Given the description of an element on the screen output the (x, y) to click on. 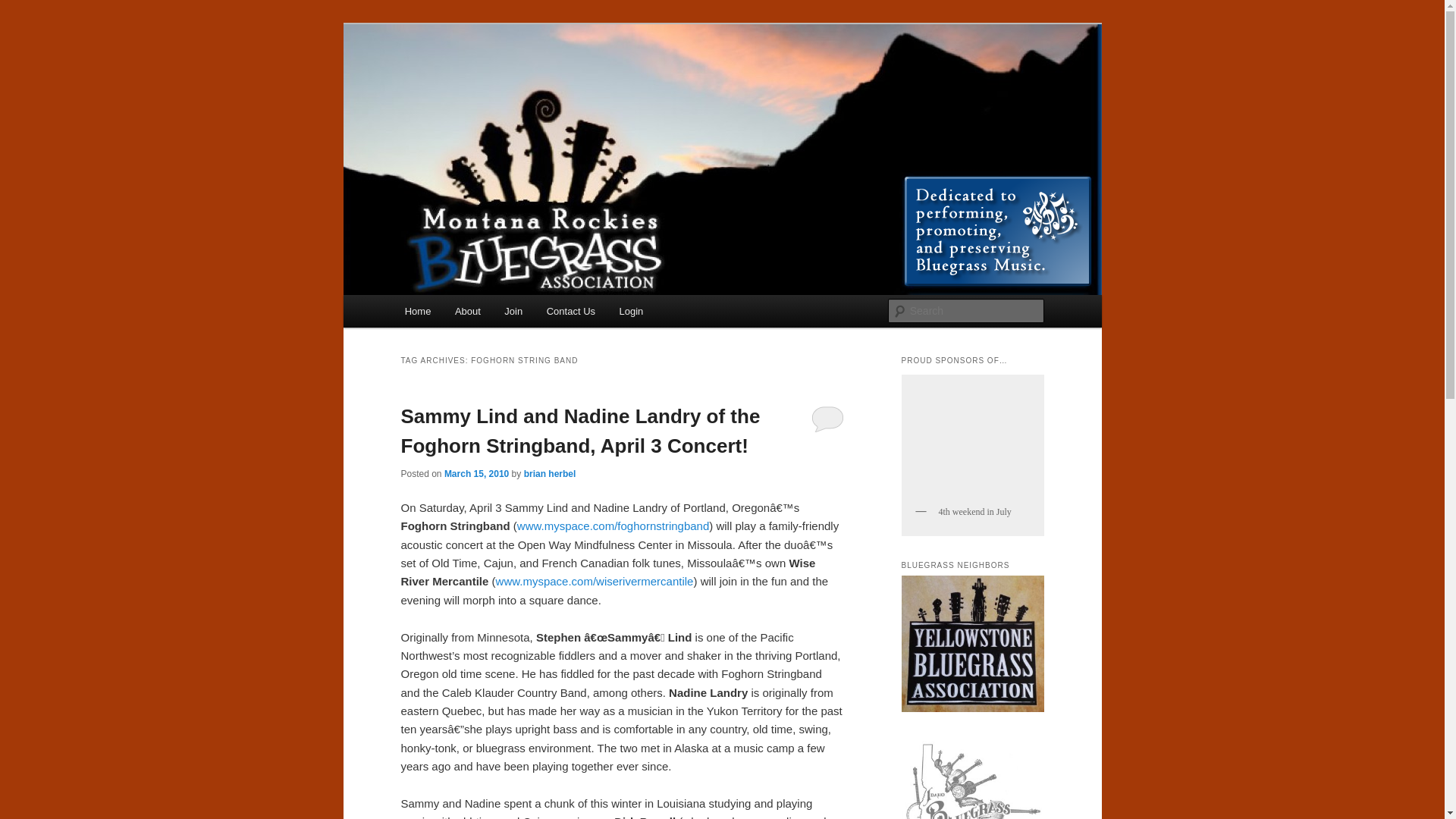
brian herbel (550, 473)
Search (24, 8)
Join (513, 310)
About (467, 310)
Montana Rockies Bluegrass Association (619, 78)
1:49 pm (476, 473)
Home (417, 310)
Login (631, 310)
View all posts by brian herbel (550, 473)
Contact Us (570, 310)
March 15, 2010 (476, 473)
